Given the description of an element on the screen output the (x, y) to click on. 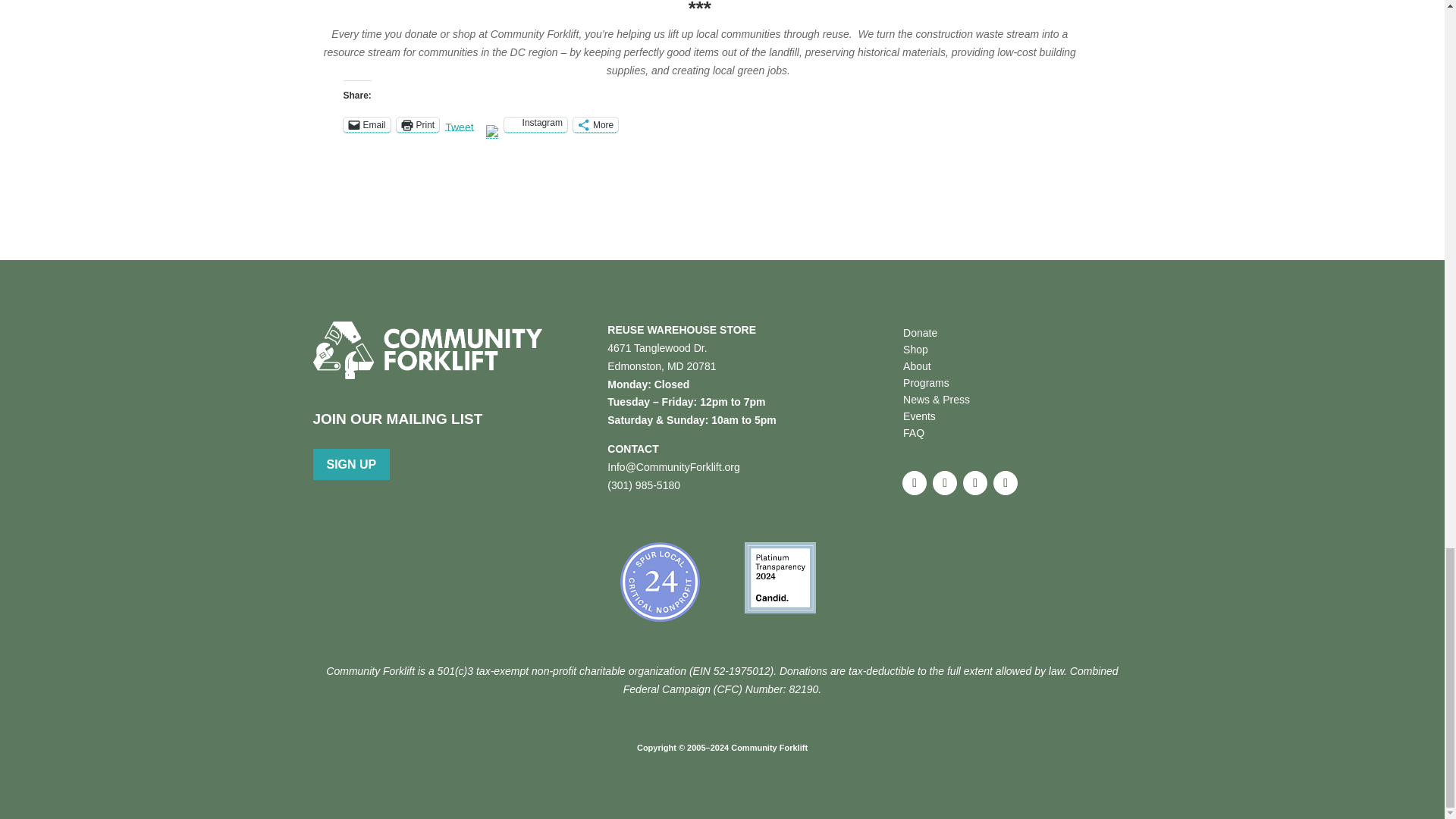
Follow on Youtube (1004, 482)
Click to print (417, 124)
Follow on X (944, 482)
Click to share on Instagram (535, 124)
Follow on Facebook (914, 482)
GuideStar-Candid2024PlatinumSealofTransparency (779, 577)
Follow on Instagram (974, 482)
Click to email a link to a friend (366, 124)
